Given the description of an element on the screen output the (x, y) to click on. 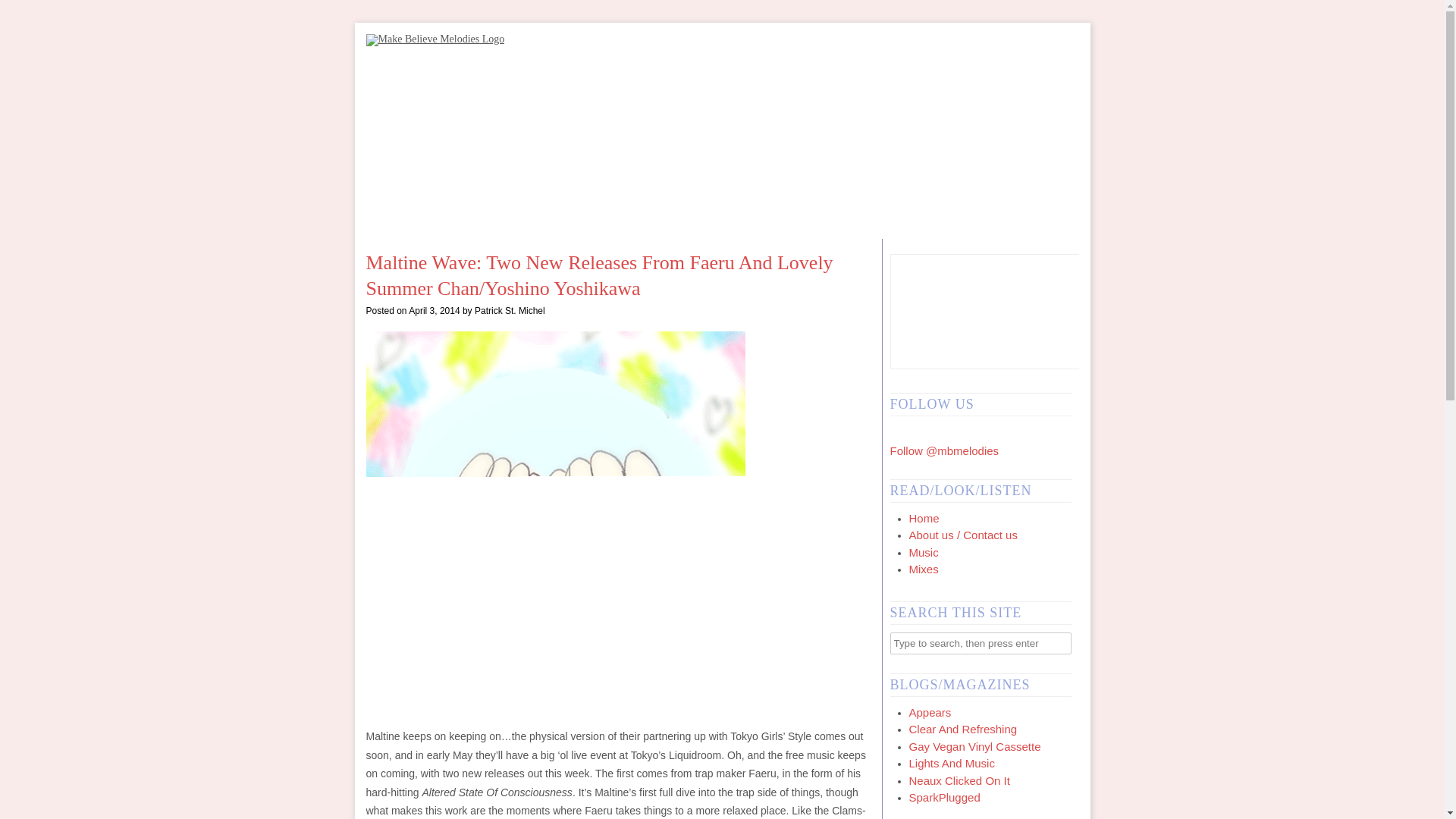
View all posts by Patrick St. Michel (509, 310)
Patrick St. Michel (509, 310)
Neaux Clicked On It (958, 779)
Mixes (922, 568)
SparkPlugged (943, 797)
Type to search, then press enter (980, 643)
Clear And Refreshing (962, 728)
Gay Vegan Vinyl Cassette (974, 746)
Appears (929, 711)
Lights And Music (951, 762)
Home (923, 517)
Search (23, 10)
Music (922, 552)
